Given the description of an element on the screen output the (x, y) to click on. 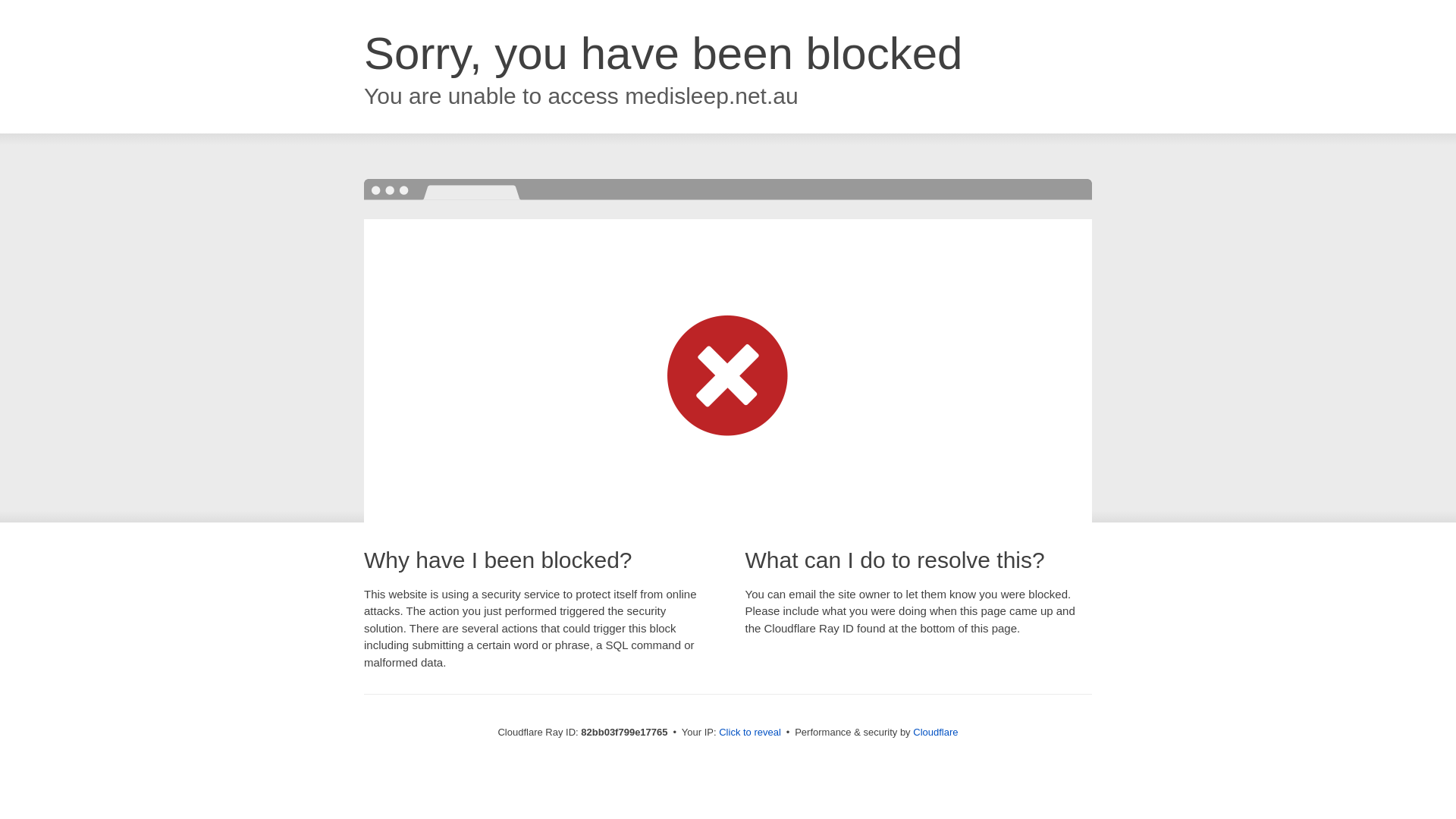
Click to reveal Element type: text (749, 732)
Cloudflare Element type: text (935, 731)
